Given the description of an element on the screen output the (x, y) to click on. 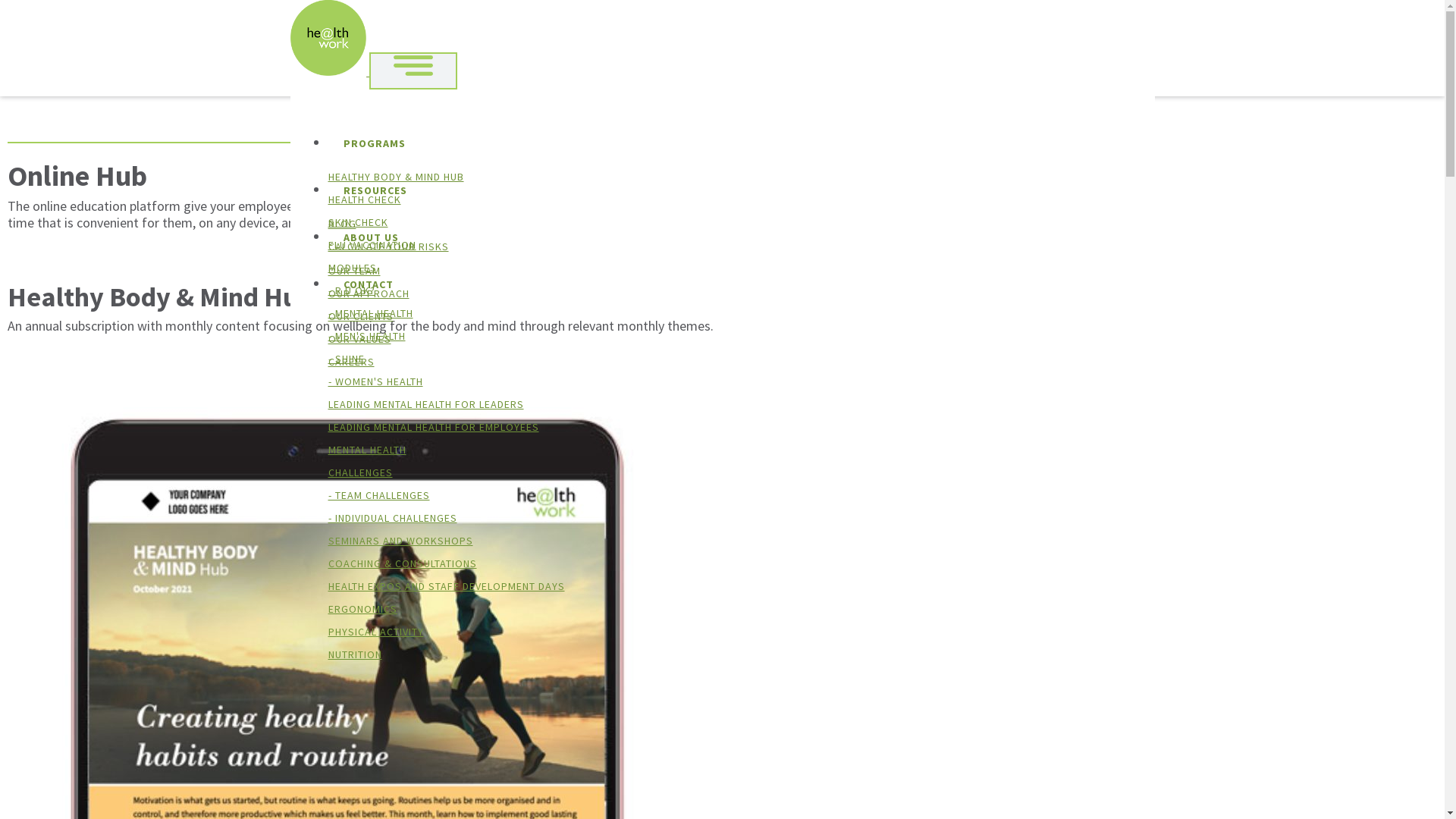
CAREERS Element type: text (350, 361)
PHYSICAL ACTIVITY Element type: text (375, 631)
- R U OK? Element type: text (350, 290)
OUR TEAM Element type: text (353, 270)
LEADING MENTAL HEALTH FOR EMPLOYEES Element type: text (432, 426)
MODULES Element type: text (351, 267)
CALCULATE YOUR RISKS Element type: text (387, 246)
COACHING & CONSULTATIONS Element type: text (401, 563)
ERGONOMICS Element type: text (361, 608)
SKIN CHECK Element type: text (357, 222)
HEALTHY BODY & MIND HUB Element type: text (395, 176)
OUR APPROACH Element type: text (367, 293)
HEALTH EXPOS AND STAFF DEVELOPMENT DAYS Element type: text (445, 586)
SEMINARS AND WORKSHOPS Element type: text (399, 540)
MENTAL HEALTH Element type: text (366, 449)
OUR VALUES Element type: text (358, 338)
BLOG Element type: text (341, 223)
- SHINE Element type: text (345, 358)
CHALLENGES Element type: text (359, 472)
HEALTH CHECK Element type: text (363, 199)
- MENTAL HEALTH Element type: text (369, 313)
FLU VACCINATION Element type: text (371, 244)
OUR CLIENTS Element type: text (359, 316)
ABOUT US Element type: text (736, 236)
- TEAM CHALLENGES Element type: text (378, 495)
LEADING MENTAL HEALTH FOR LEADERS Element type: text (425, 404)
- WOMEN'S HEALTH Element type: text (374, 381)
RESOURCES Element type: text (736, 189)
CONTACT Element type: text (736, 283)
PROGRAMS Element type: text (736, 142)
- MEN'S HEALTH Element type: text (365, 335)
NUTRITION Element type: text (354, 654)
- INDIVIDUAL CHALLENGES Element type: text (391, 517)
